Given the description of an element on the screen output the (x, y) to click on. 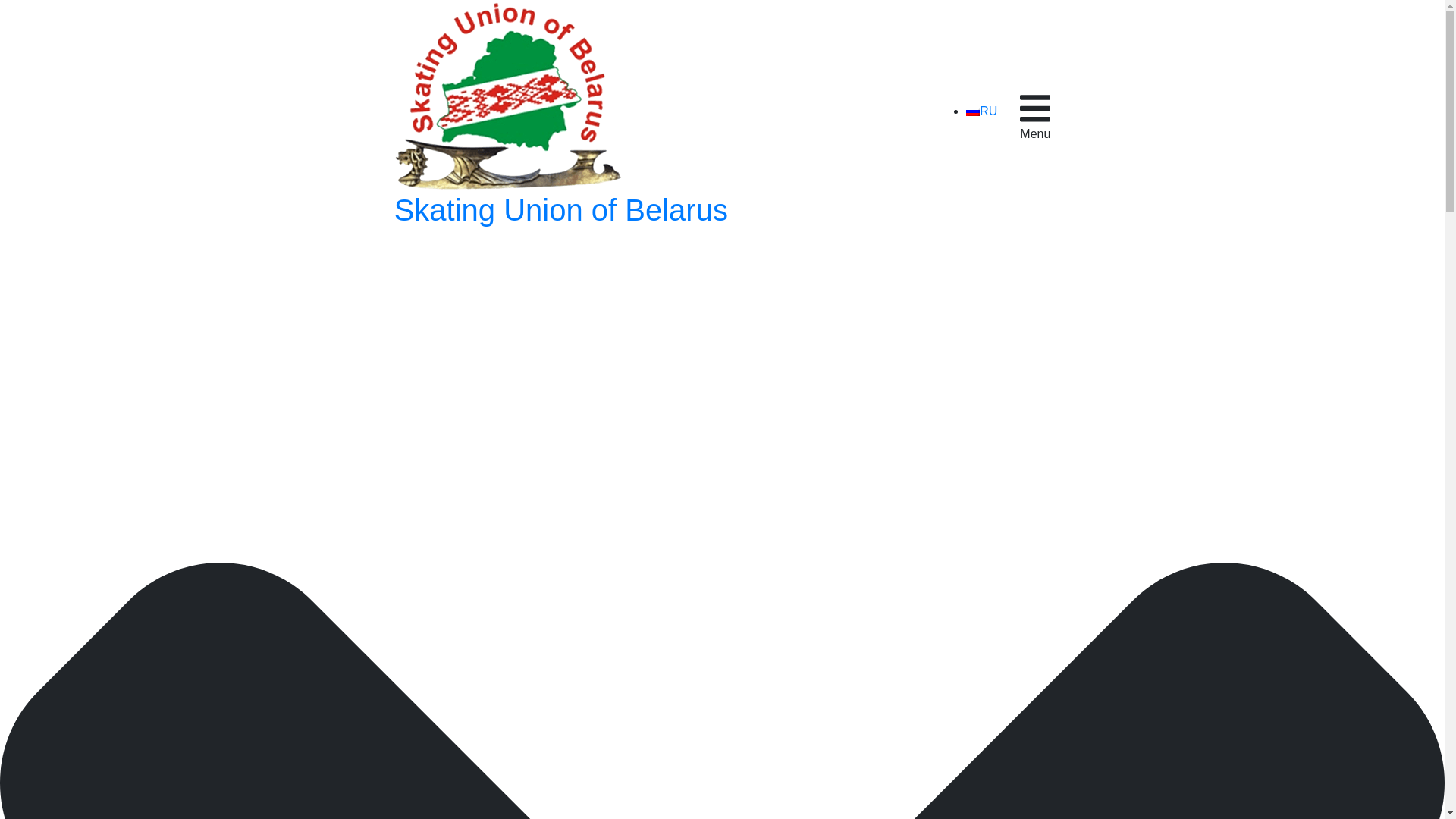
RU Element type: text (981, 110)
RU Element type: hover (972, 111)
Skating Union of Belarus Element type: text (561, 114)
